Given the description of an element on the screen output the (x, y) to click on. 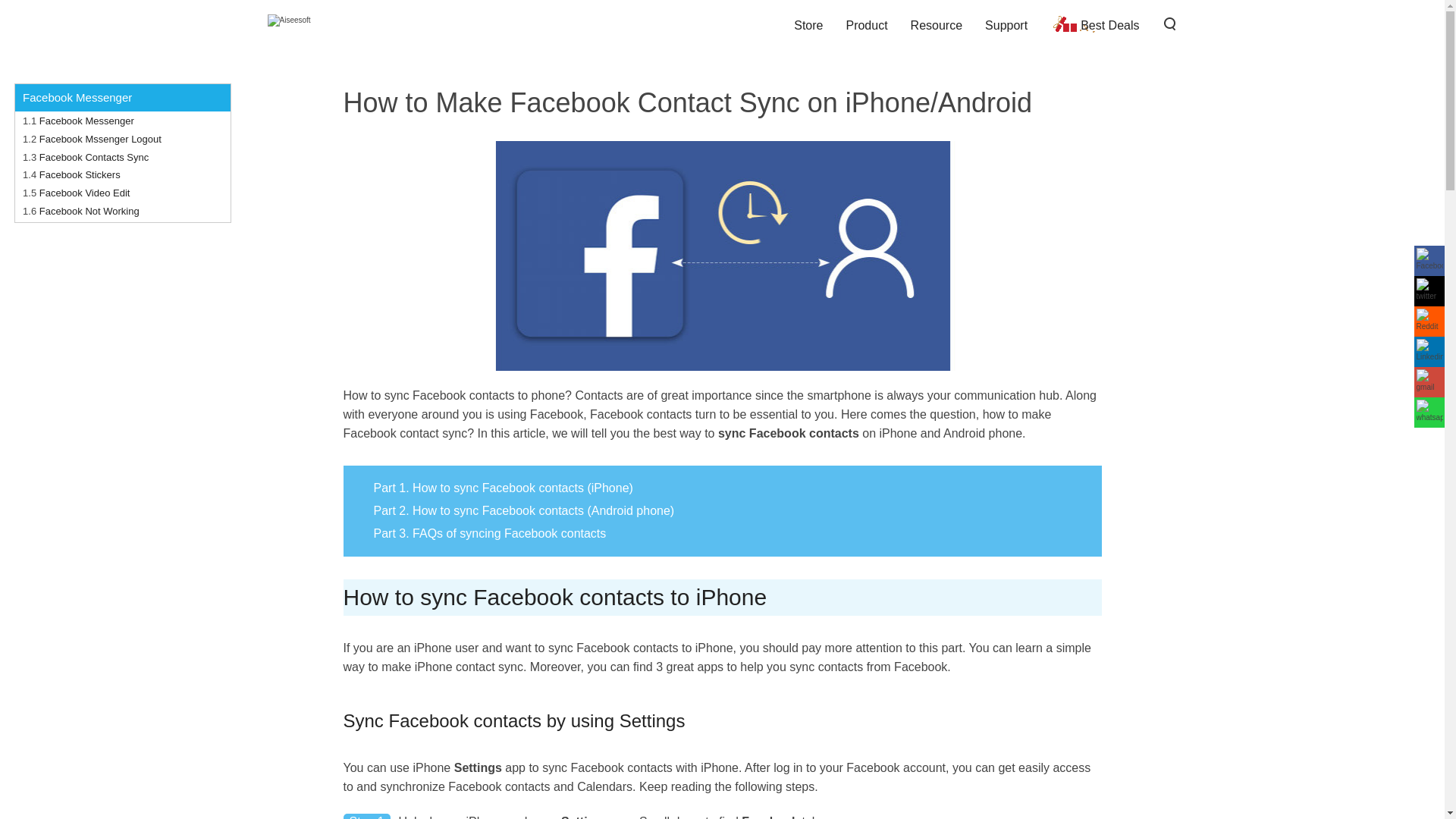
Facebook Not Working (89, 211)
Support (1006, 24)
Facebook Messenger (86, 120)
Facebook Stickers (79, 174)
Resource (936, 24)
Facebook Contacts Sync (94, 156)
Facebook Video Edit (85, 193)
Product (865, 24)
Store (807, 24)
Best Deals (1093, 25)
Facebook Mssenger Logout (100, 138)
Part 3. FAQs of syncing Facebook contacts (481, 533)
